Given the description of an element on the screen output the (x, y) to click on. 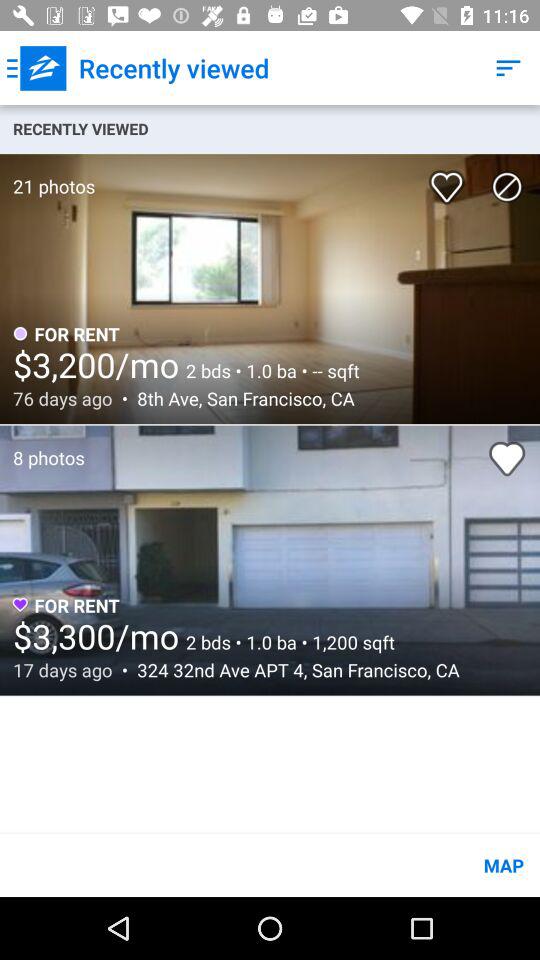
turn on icon to the left of the recently viewed item (36, 68)
